Given the description of an element on the screen output the (x, y) to click on. 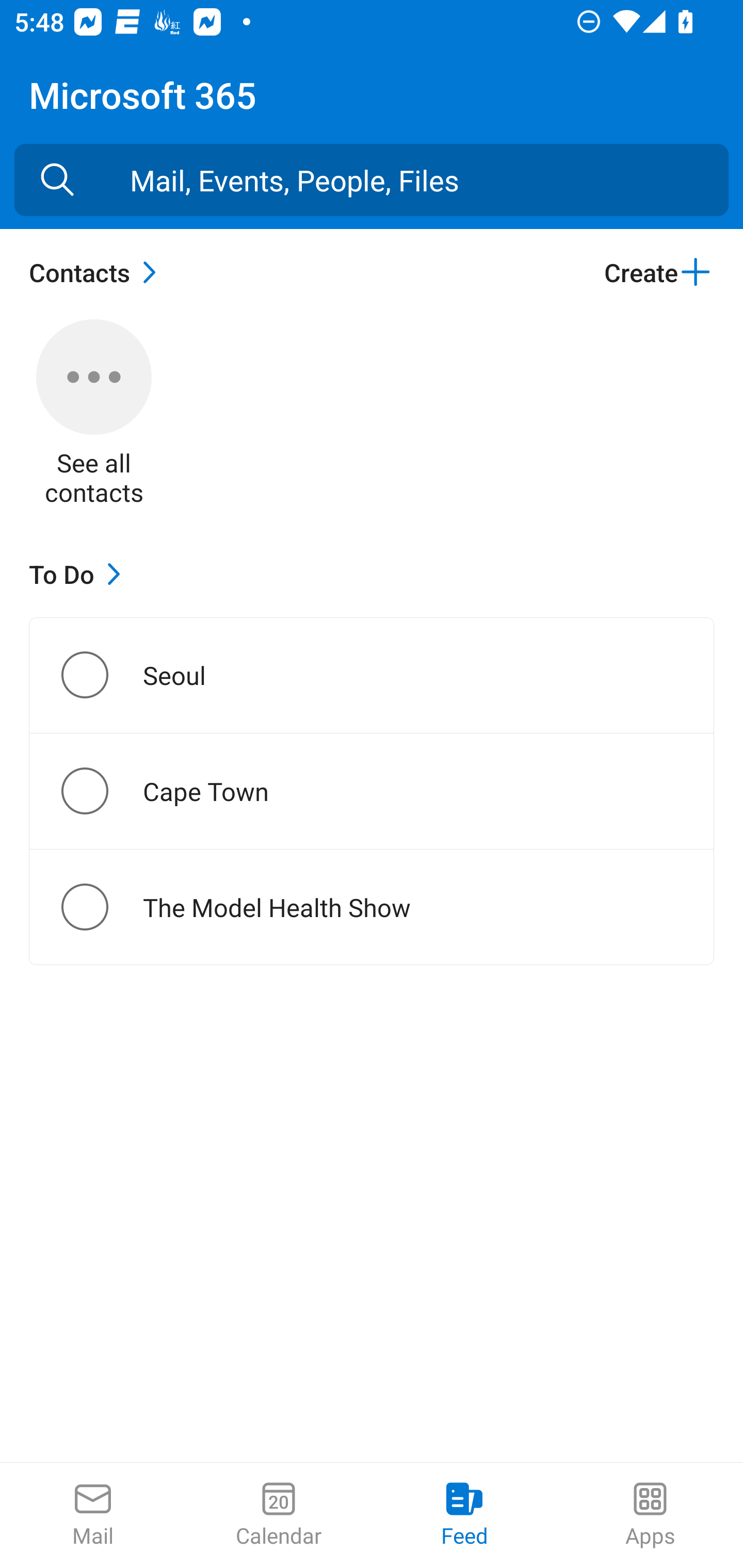
Search for Mail, Events, People, Files (57, 180)
Contacts (97, 271)
Create Create contact (658, 271)
See all contacts (93, 414)
To Do (79, 573)
Seoul Seoul Seoul. not completed (371, 674)
Seoul (101, 674)
Cape Town Cape Town Cape Town. not completed (371, 790)
Cape Town (101, 790)
The Model Health Show (101, 906)
Mail (92, 1515)
Calendar (278, 1515)
Apps (650, 1515)
